Given the description of an element on the screen output the (x, y) to click on. 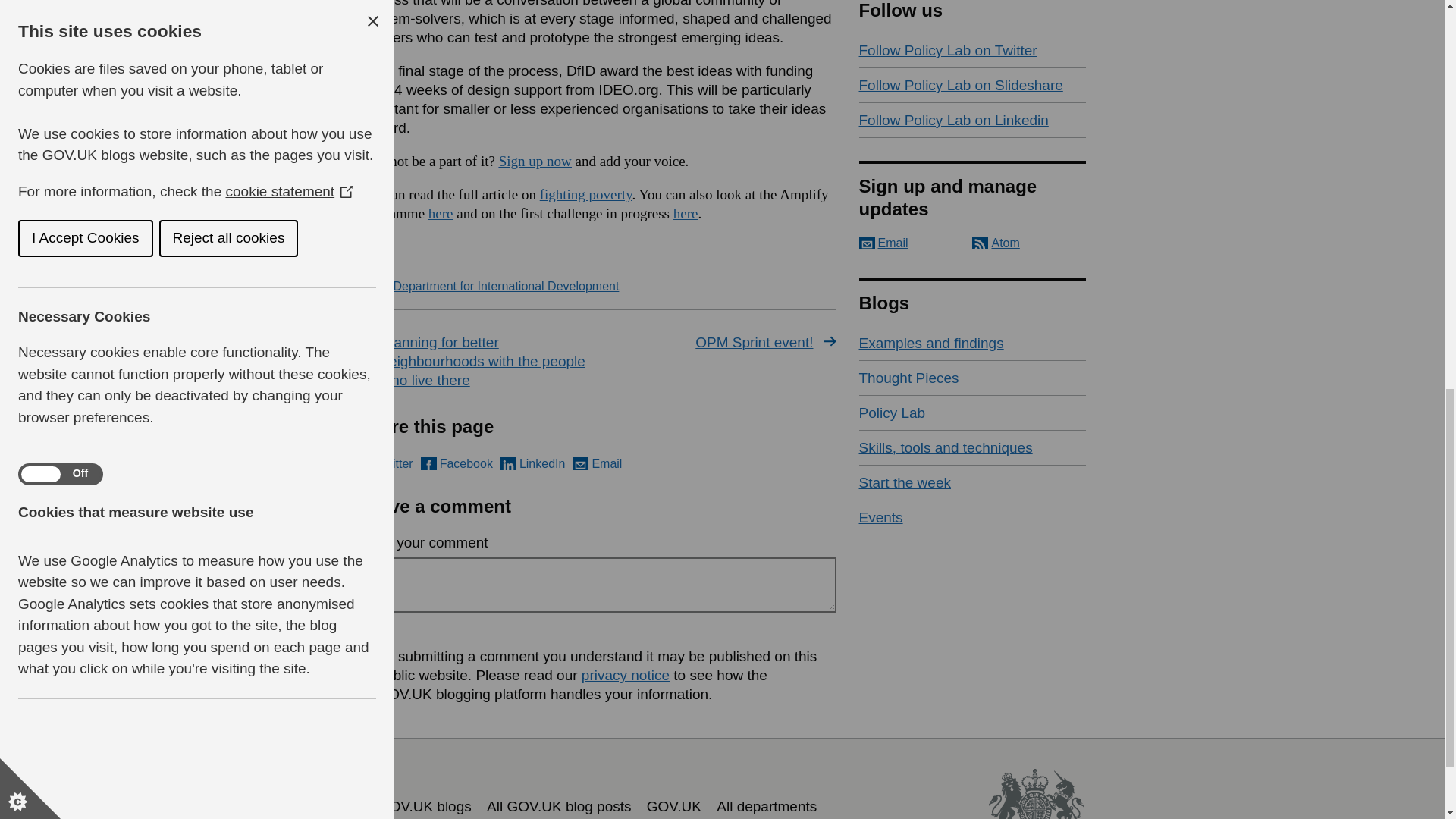
Follow Policy Lab on Twitter (972, 50)
Atom (995, 242)
fighting poverty (585, 194)
Facebook (456, 463)
here (685, 213)
Twitter (385, 463)
Sign up now (535, 160)
Email (883, 242)
privacy notice (624, 675)
Email (596, 463)
